Given the description of an element on the screen output the (x, y) to click on. 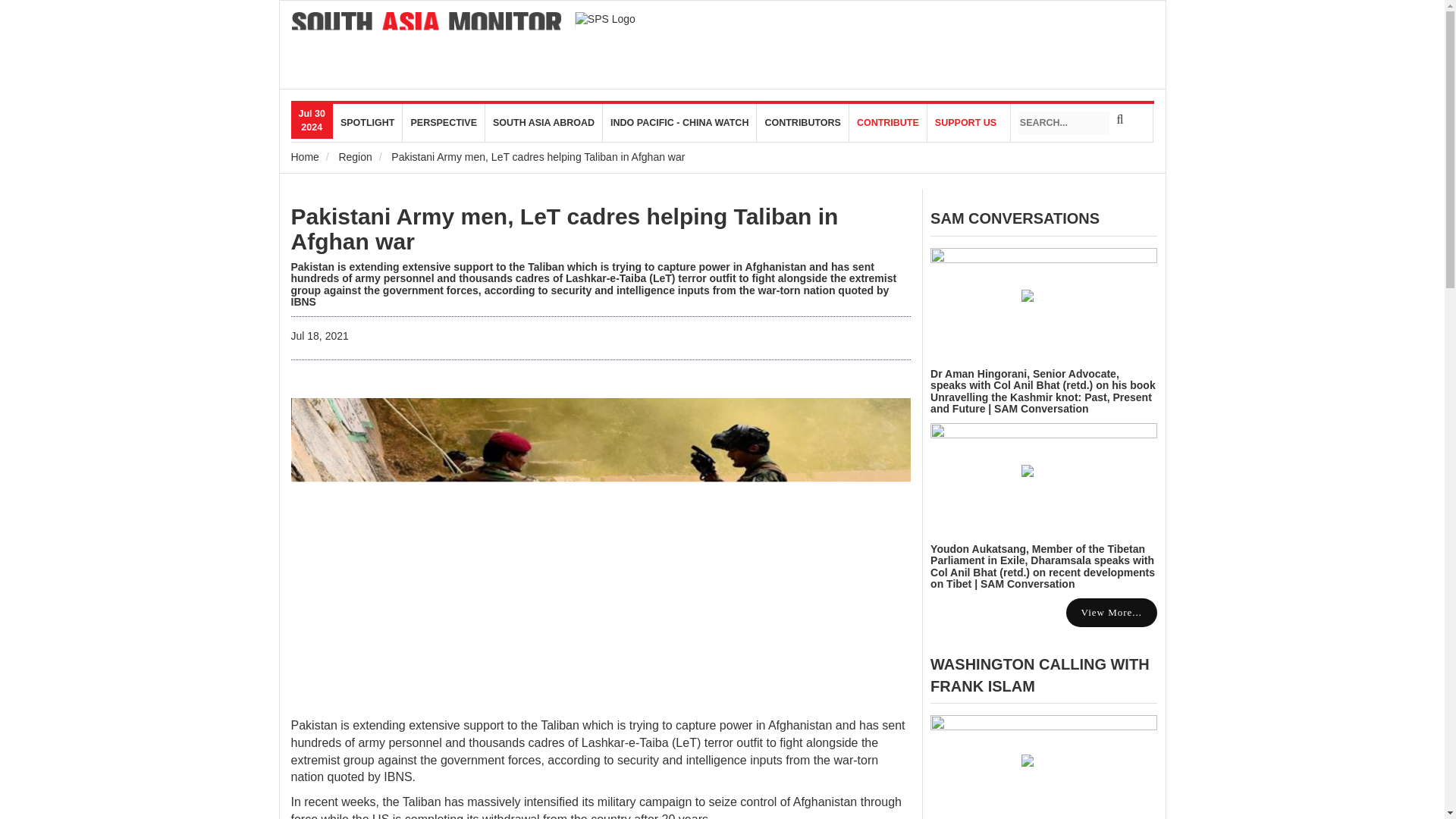
Home (427, 30)
Region (354, 156)
Facebook (1057, 30)
CONTRIBUTE (887, 122)
CONTRIBUTORS (802, 122)
Pakistani Army men, LeT cadres helping Taliban in Afghan war (564, 228)
SPOTLIGHT (368, 122)
SUPPORT US (965, 122)
INDO PACIFIC - CHINA WATCH (679, 122)
Dailymotion (1133, 30)
Linkedin (1082, 30)
